Given the description of an element on the screen output the (x, y) to click on. 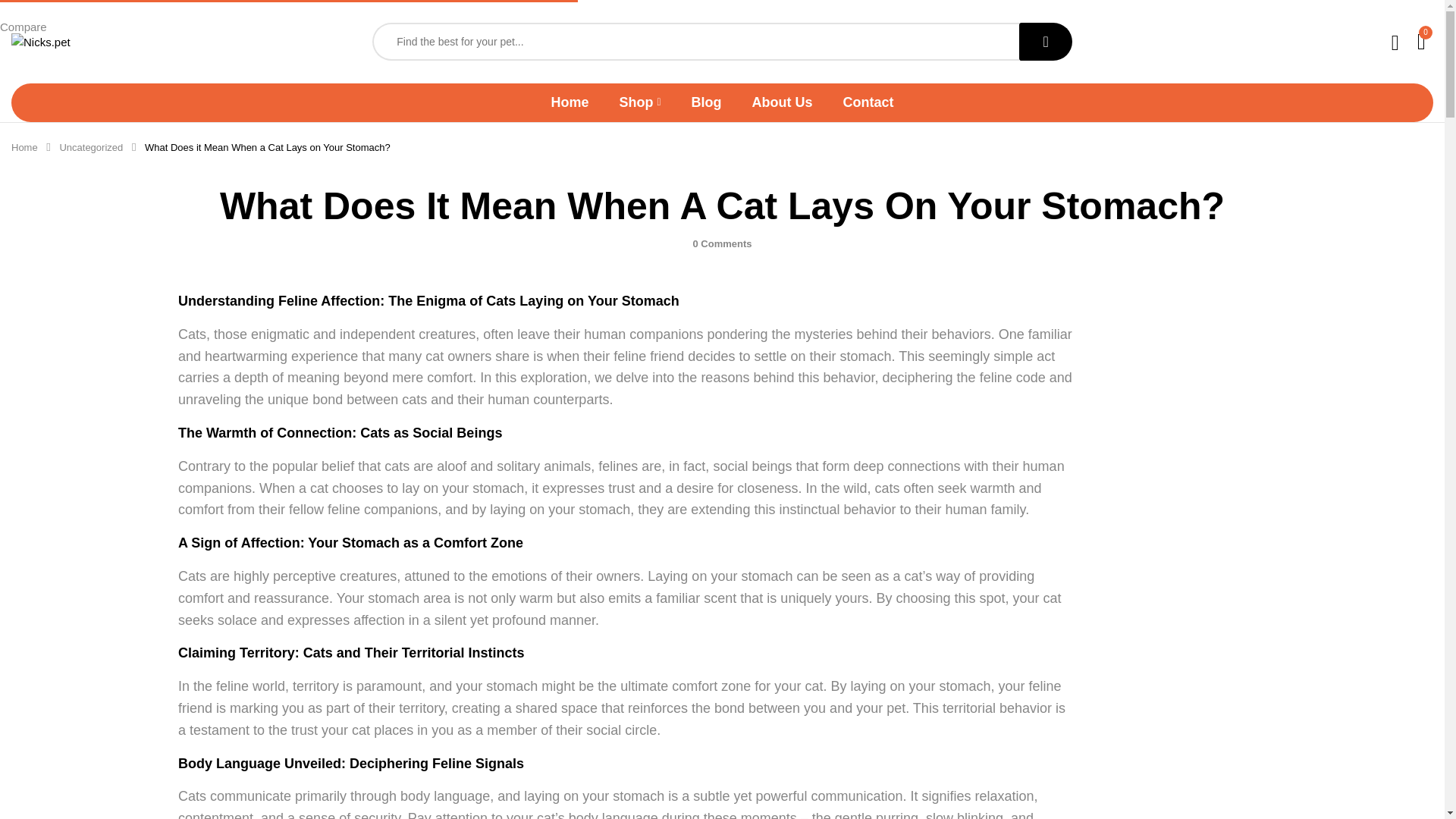
Home (24, 147)
About Us (782, 102)
0 (1421, 41)
Contact (868, 102)
0 Comments (722, 243)
Home (569, 102)
Shop (639, 102)
Blog (706, 102)
Uncategorized (90, 147)
search (1045, 41)
